Given the description of an element on the screen output the (x, y) to click on. 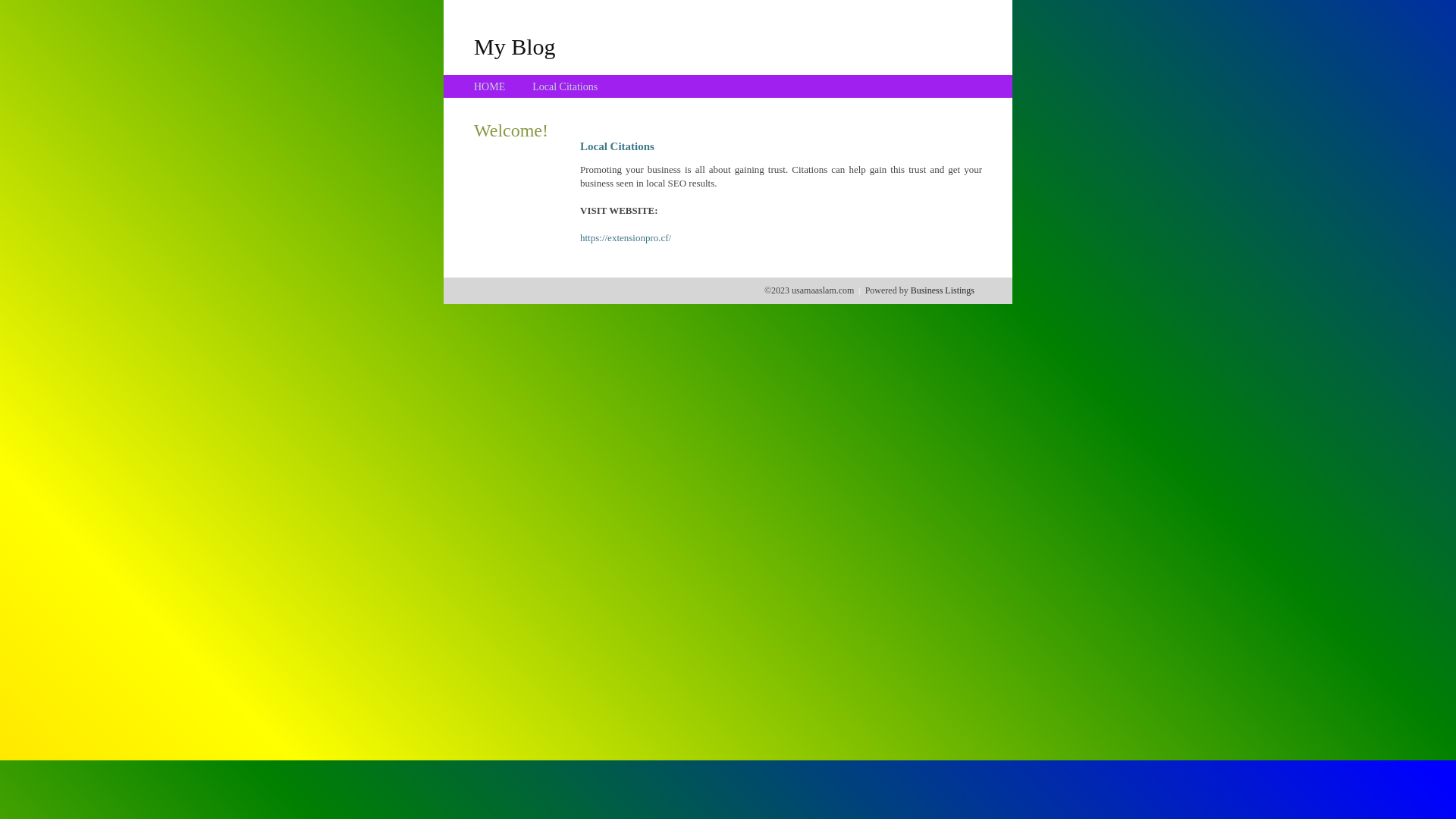
HOME Element type: text (489, 86)
Business Listings Element type: text (942, 290)
https://extensionpro.cf/ Element type: text (625, 237)
My Blog Element type: text (514, 46)
Local Citations Element type: text (564, 86)
